Given the description of an element on the screen output the (x, y) to click on. 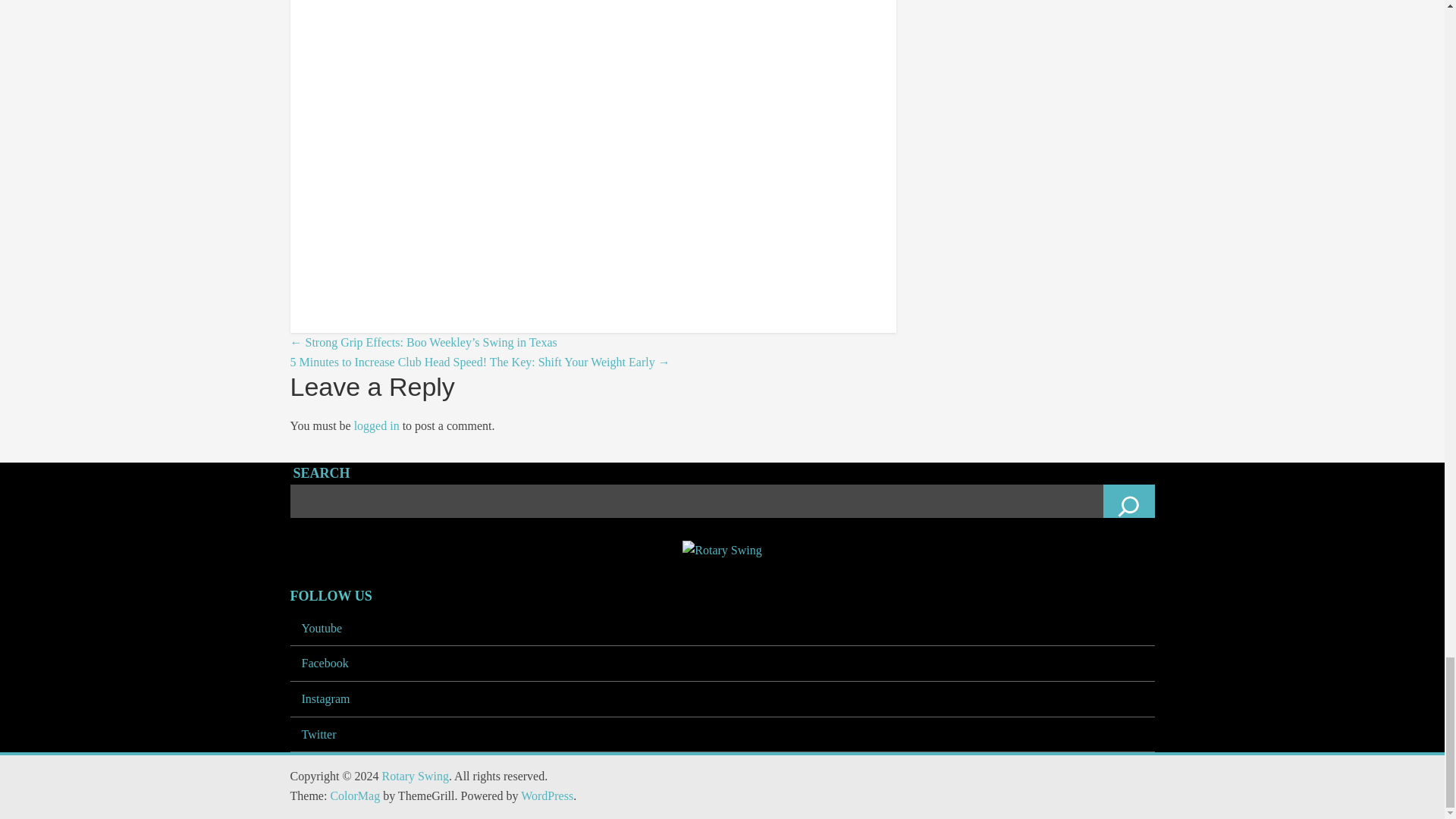
WordPress (547, 795)
Rotary Swing (414, 775)
ColorMag (355, 795)
